Given the description of an element on the screen output the (x, y) to click on. 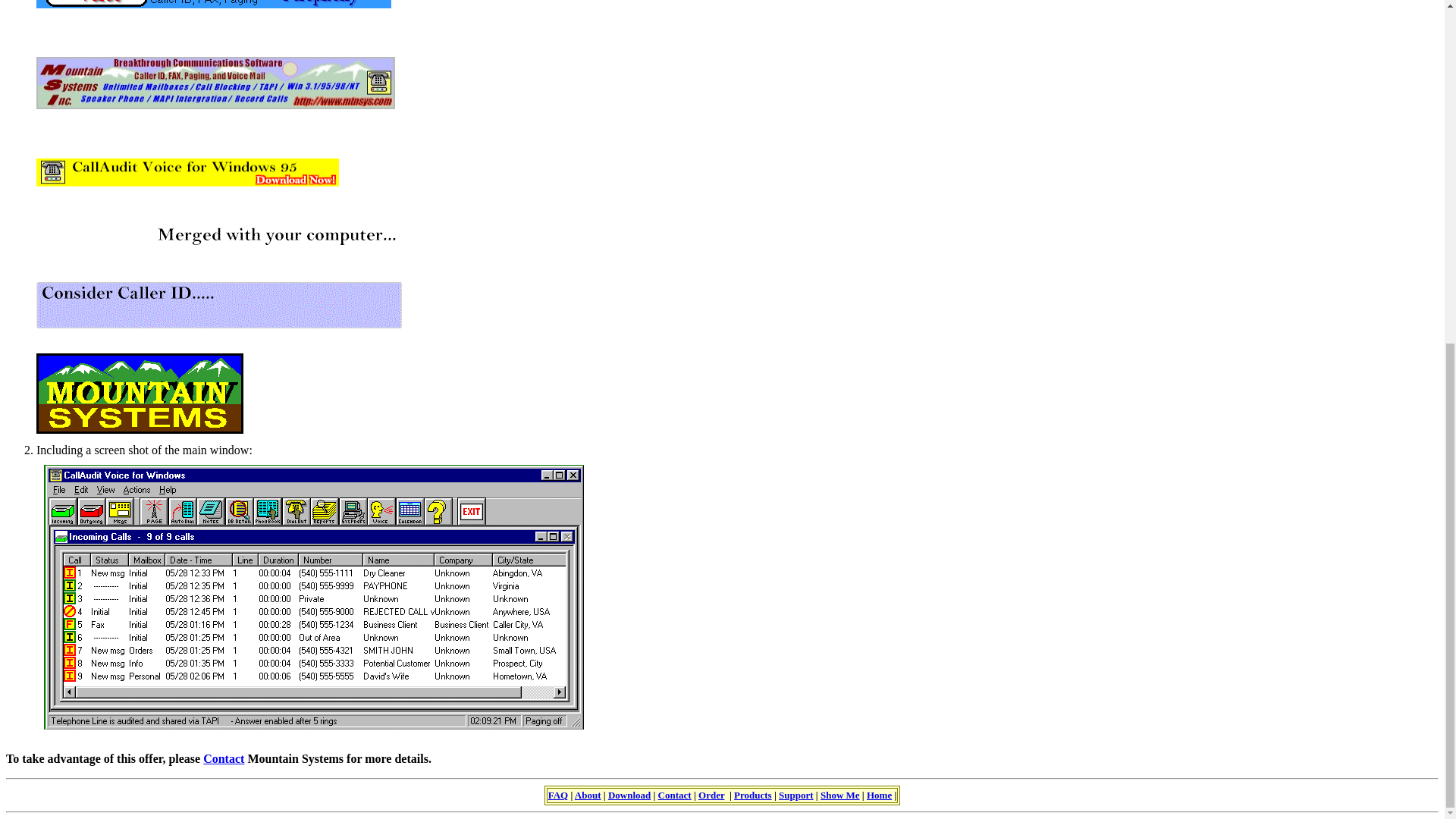
Contact (223, 758)
Home (878, 794)
Order (710, 794)
Show Me (840, 794)
About (588, 794)
Contact (674, 794)
Download (629, 794)
Support (795, 794)
Products (752, 794)
FAQ (557, 794)
